Given the description of an element on the screen output the (x, y) to click on. 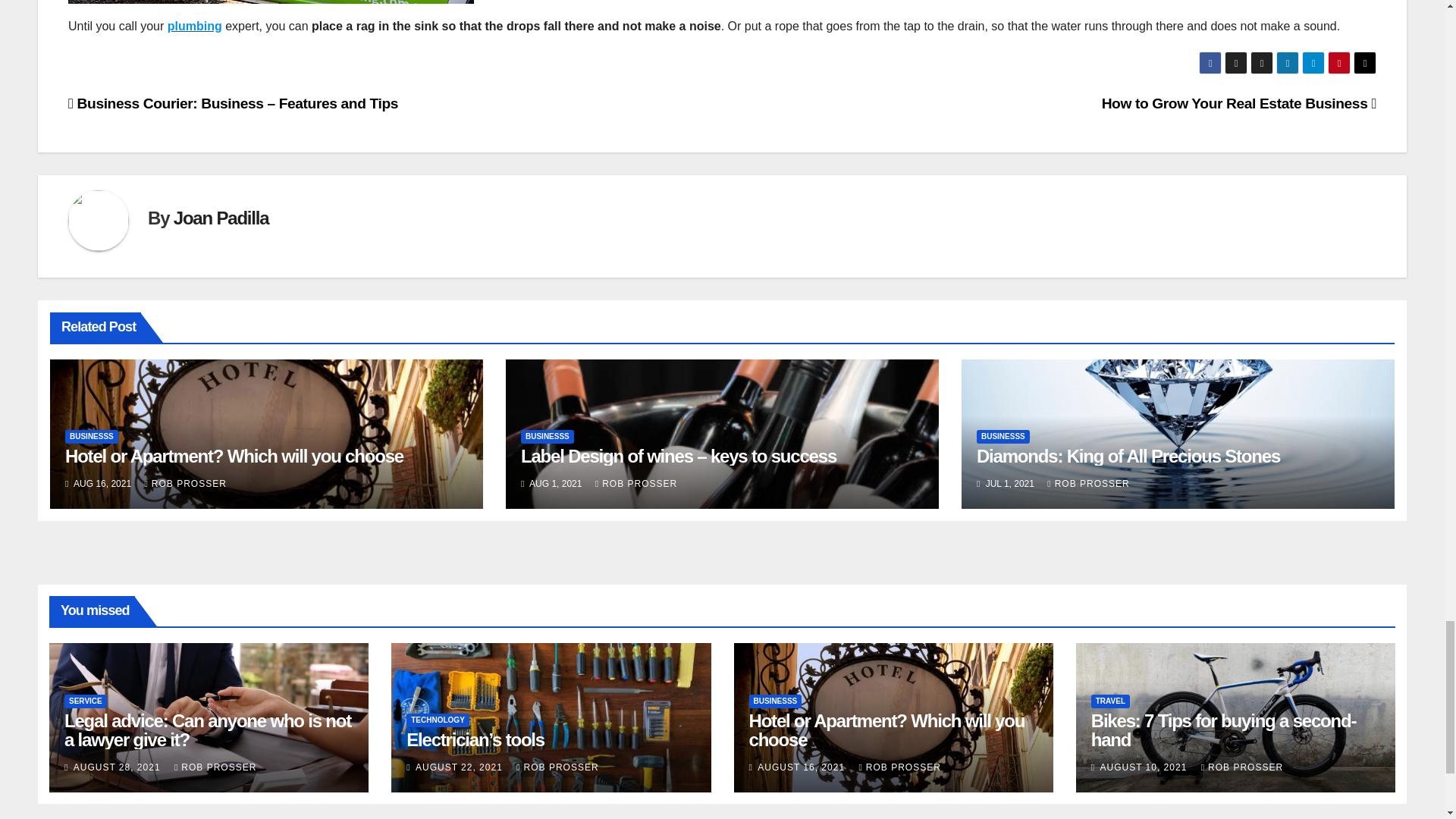
BUSINESSS (547, 436)
ROB PROSSER (636, 483)
Hotel or Apartment? Which will you choose (234, 455)
How to Grow Your Real Estate Business (1238, 103)
Permalink to: Bikes: 7 Tips for buying a second-hand (1223, 730)
BUSINESSS (1002, 436)
Permalink to: Diamonds: King of All Precious Stones (1127, 455)
Permalink to: Hotel or Apartment? Which will you choose (887, 730)
Joan Padilla (221, 218)
